Given the description of an element on the screen output the (x, y) to click on. 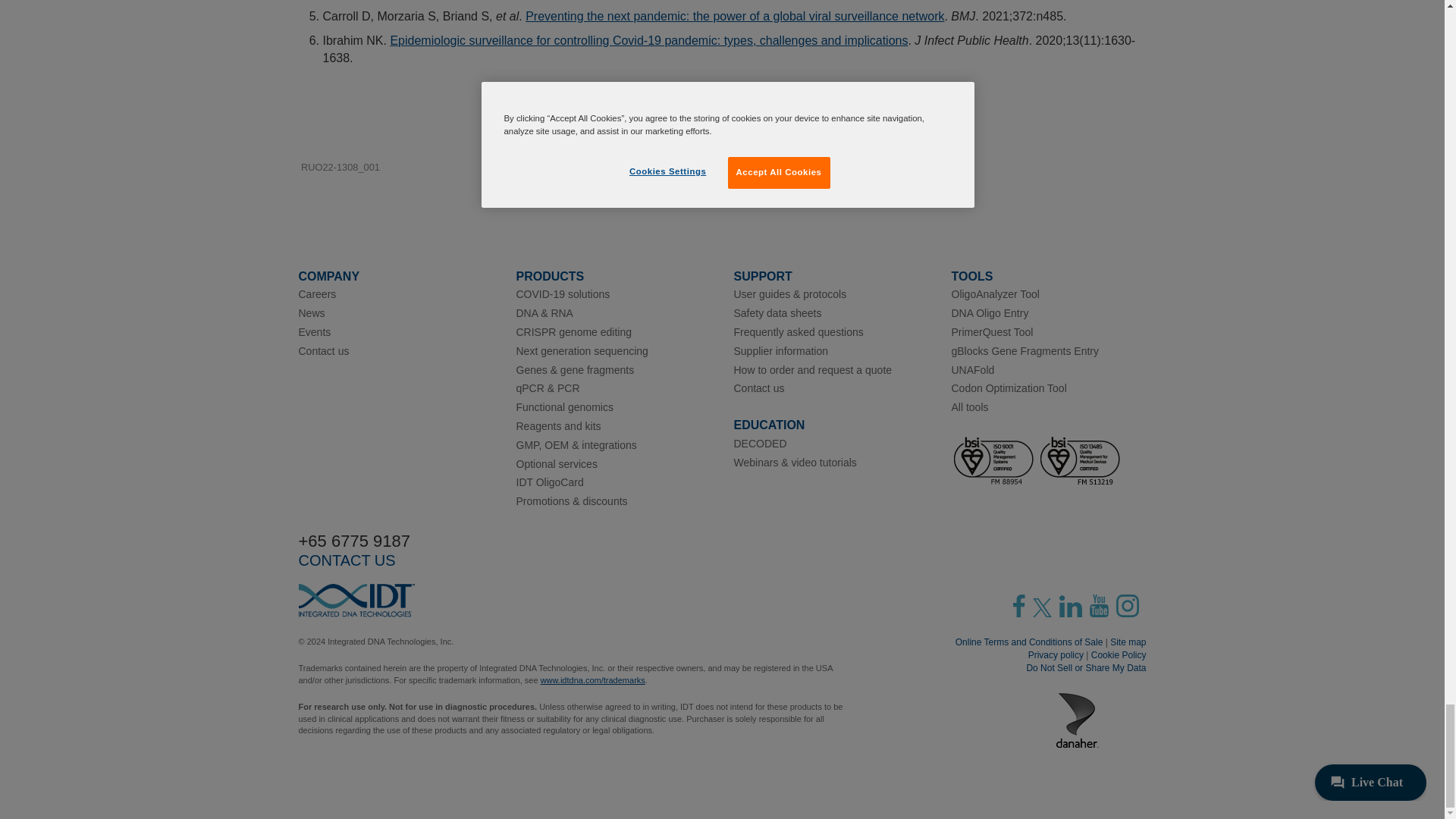
Integrated DNA Technologies (356, 600)
